Given the description of an element on the screen output the (x, y) to click on. 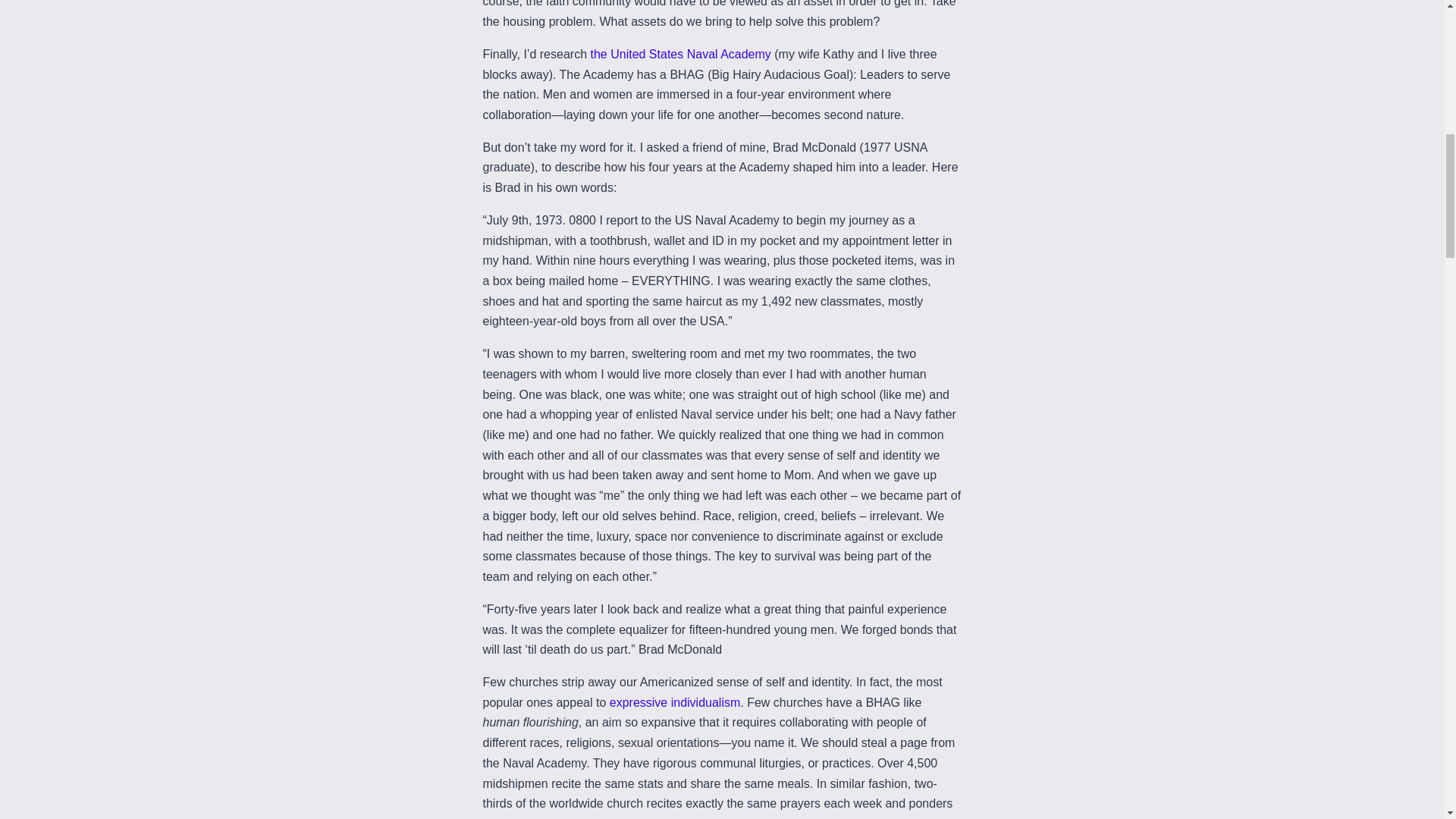
the United States Naval Academy (679, 53)
expressive individualism (675, 702)
